Given the description of an element on the screen output the (x, y) to click on. 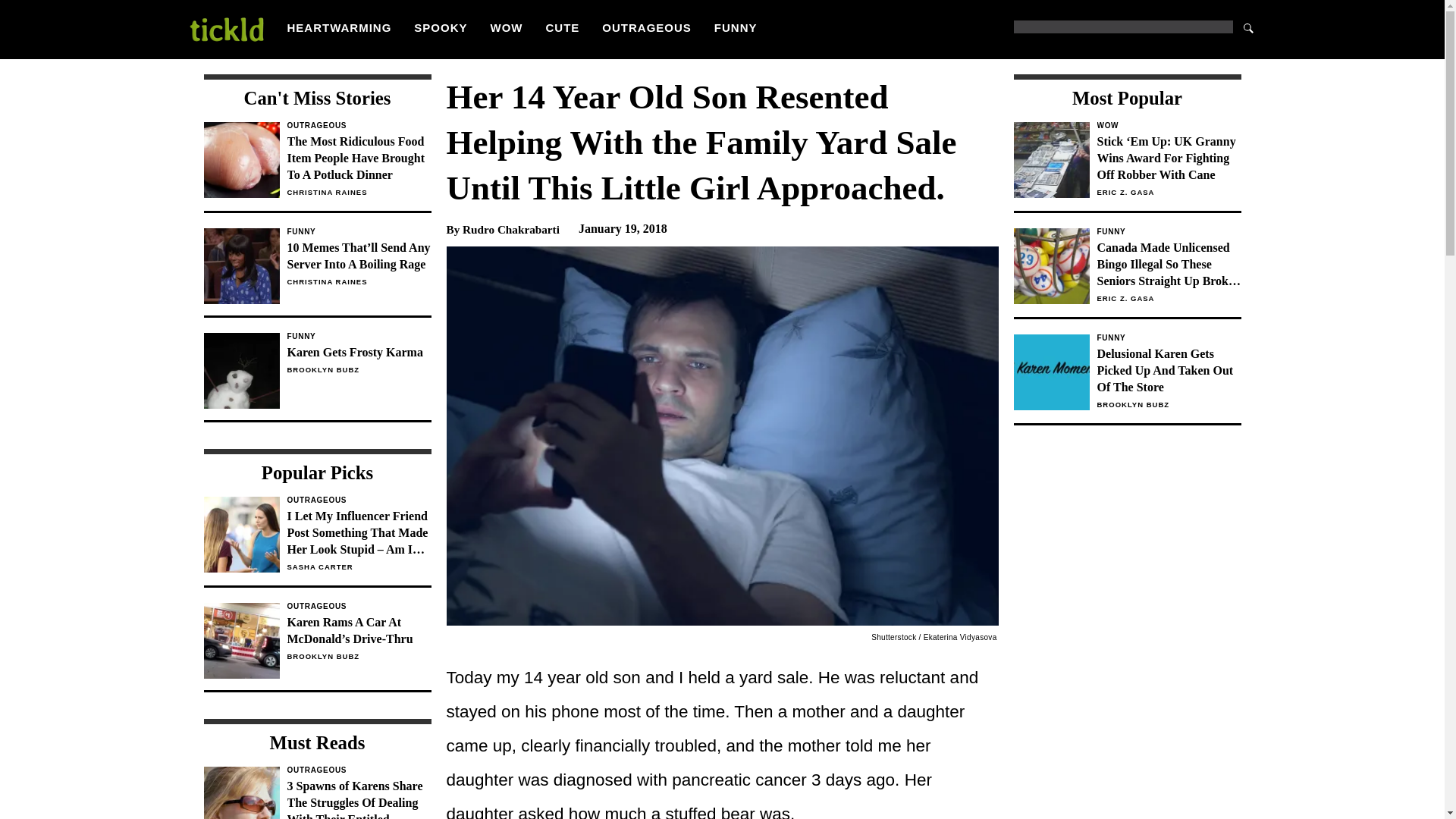
Search (1248, 27)
Search (1248, 27)
OUTRAGEOUS (646, 26)
FUNNY (735, 26)
Delusional Karen Gets Picked Up And Taken Out Of The Store (1168, 370)
